Given the description of an element on the screen output the (x, y) to click on. 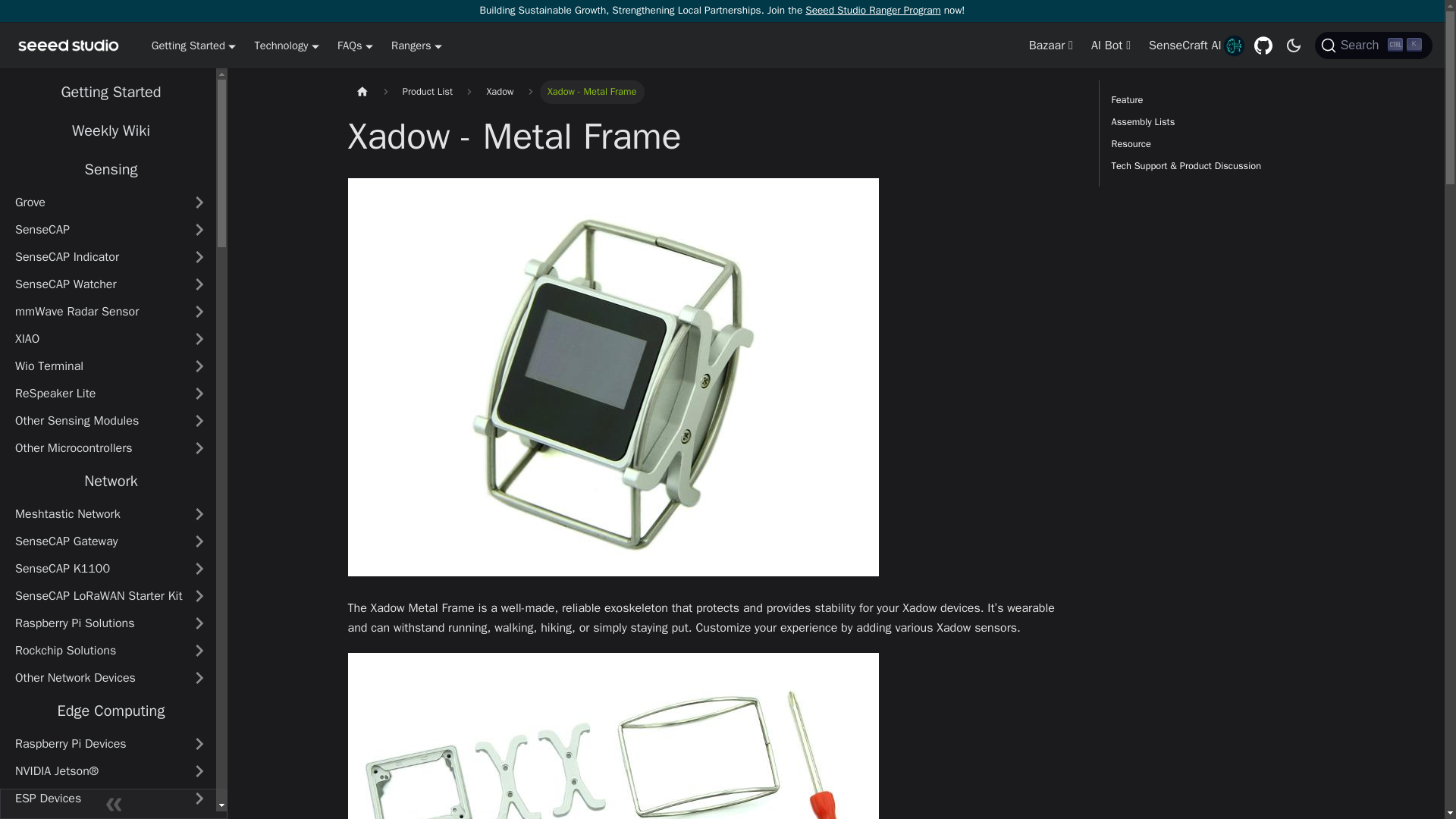
FAQs (1373, 44)
Rangers (354, 45)
Getting Started (416, 45)
Technology (193, 45)
Collapse sidebar (285, 45)
SenseCraft AI (113, 803)
Seeed Studio Ranger Program (1185, 45)
Getting Started (872, 10)
